Given the description of an element on the screen output the (x, y) to click on. 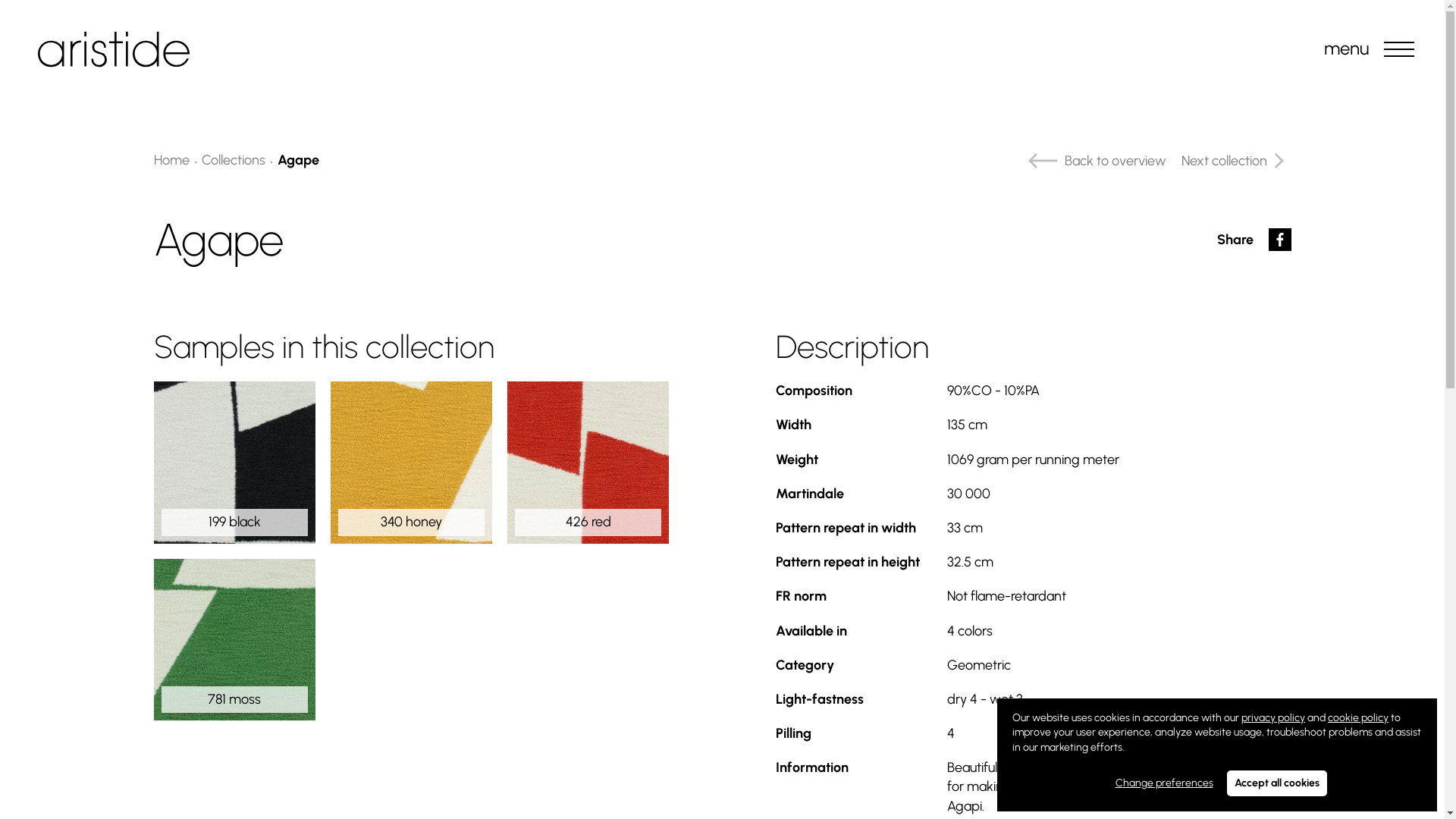
cookie policy Element type: text (1357, 717)
340 honey Agape Element type: hover (411, 461)
Back to overview Element type: text (1093, 160)
privacy policy Element type: text (1273, 717)
426 red Agape Element type: hover (587, 461)
Accept all cookies Element type: text (1276, 783)
340 honey Element type: text (411, 461)
Visit us on Facebook Element type: hover (1278, 239)
426 red Element type: text (587, 461)
199 black Agape Element type: hover (233, 461)
781 moss Element type: text (233, 639)
menu Element type: text (1398, 49)
199 black Element type: text (233, 461)
Collections Element type: text (233, 159)
Home Element type: text (170, 159)
Next collection Element type: text (1236, 160)
781 moss Agape Element type: hover (233, 639)
